Given the description of an element on the screen output the (x, y) to click on. 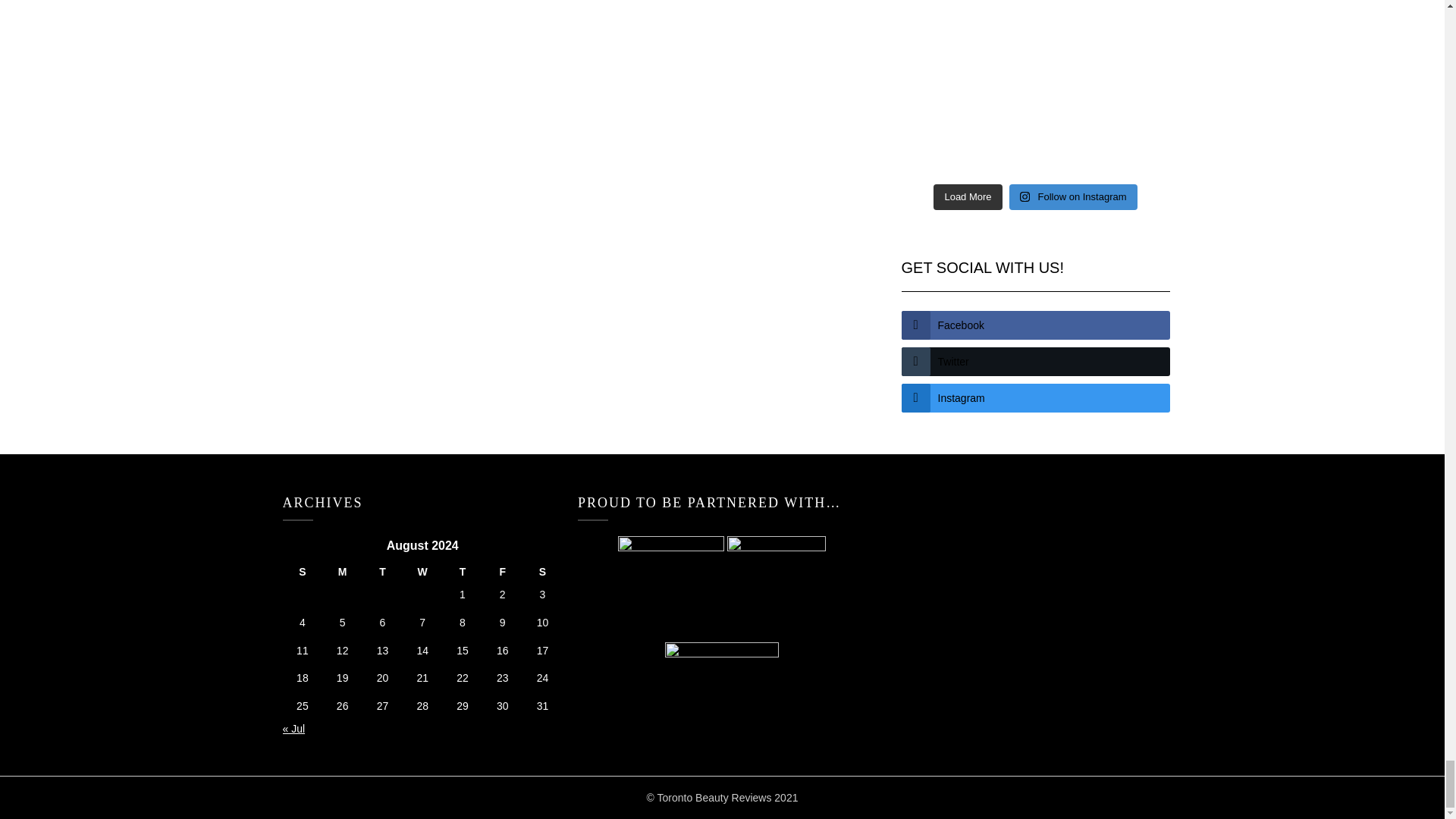
Thursday (462, 571)
Friday (501, 571)
Tuesday (382, 571)
Sunday (301, 571)
Wednesday (422, 571)
Saturday (542, 571)
Monday (341, 571)
